Given the description of an element on the screen output the (x, y) to click on. 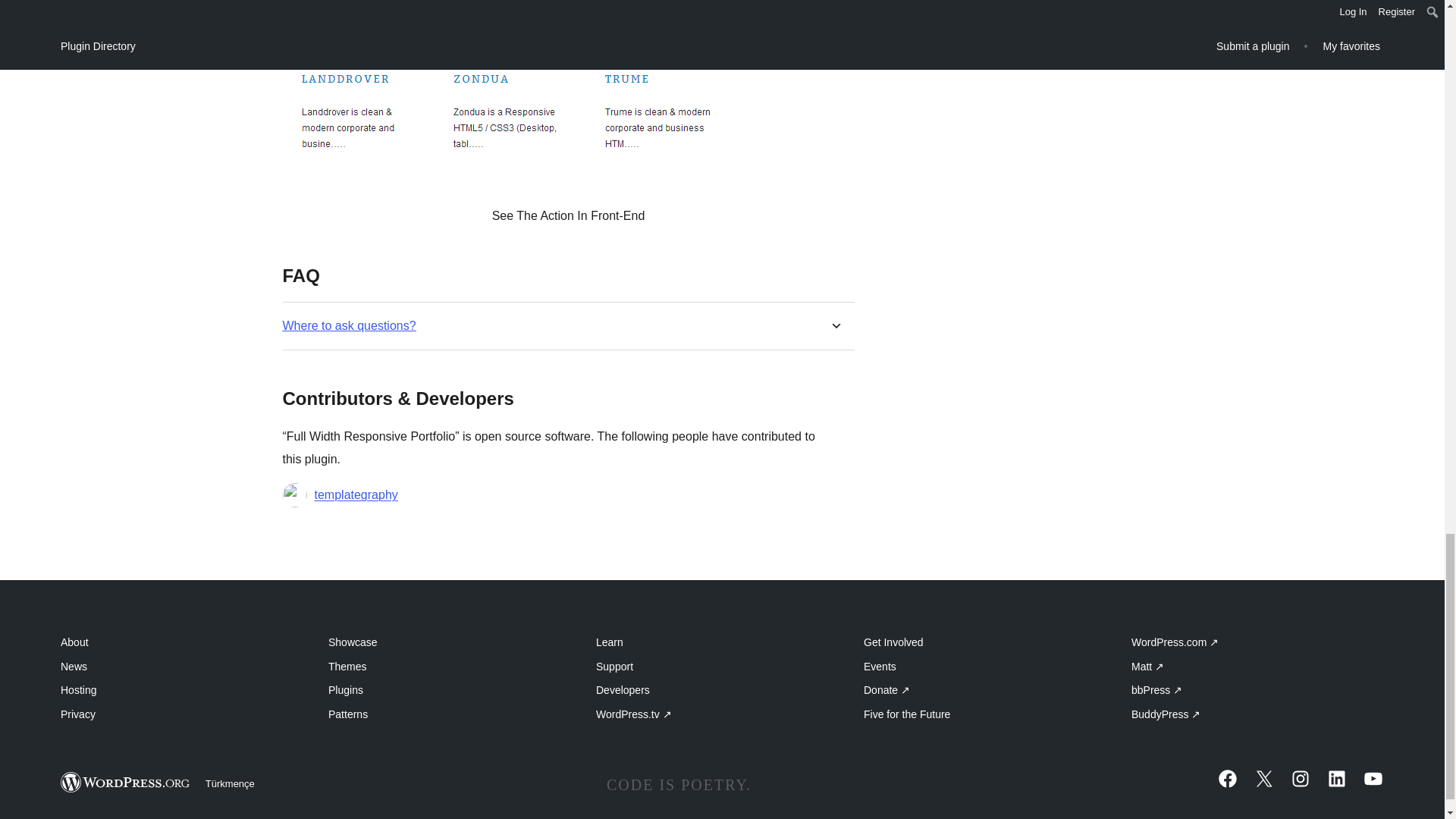
WordPress.org (125, 782)
Where to ask questions? (348, 325)
